Given the description of an element on the screen output the (x, y) to click on. 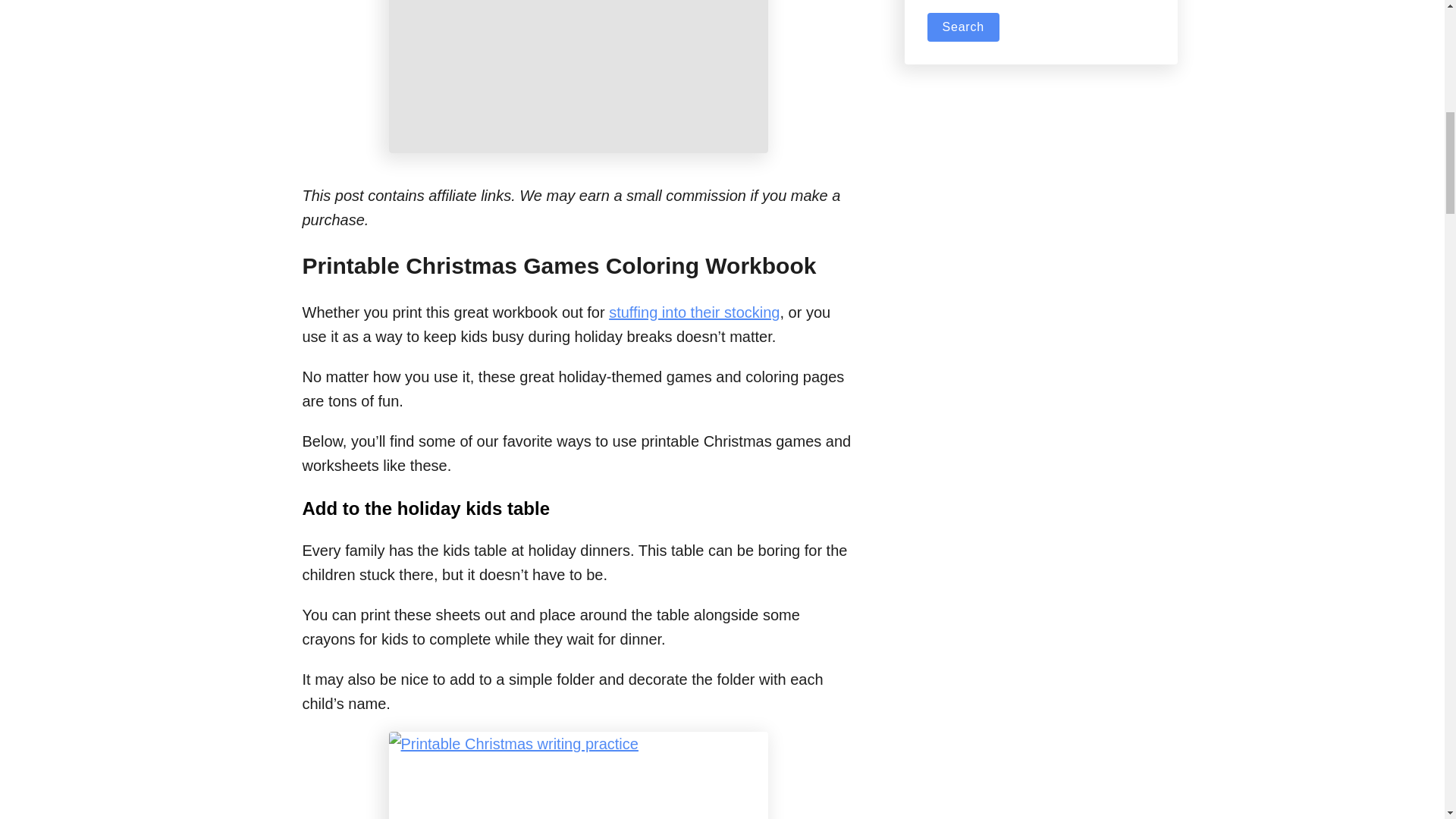
Search (962, 27)
stuffing into their stocking (693, 312)
Search (962, 27)
